Given the description of an element on the screen output the (x, y) to click on. 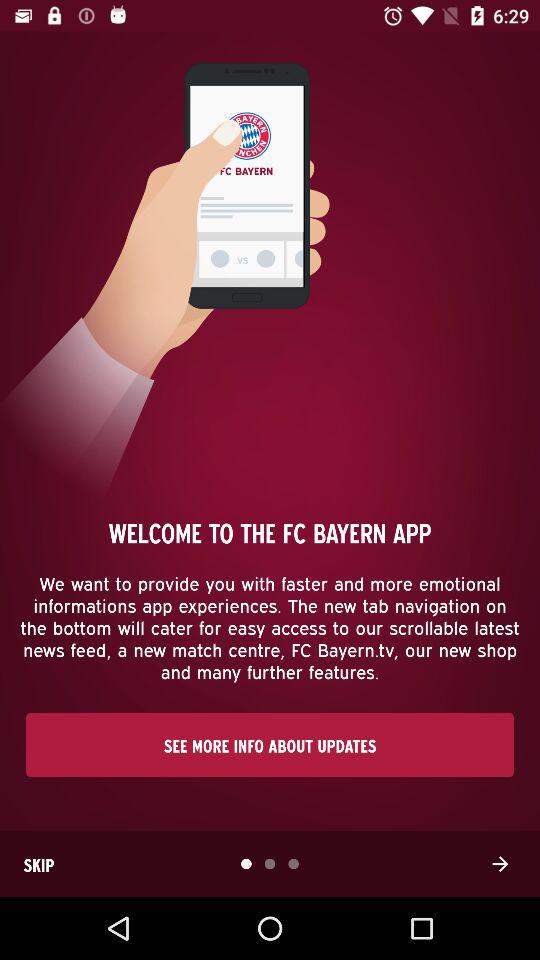
open skip item (39, 864)
